Given the description of an element on the screen output the (x, y) to click on. 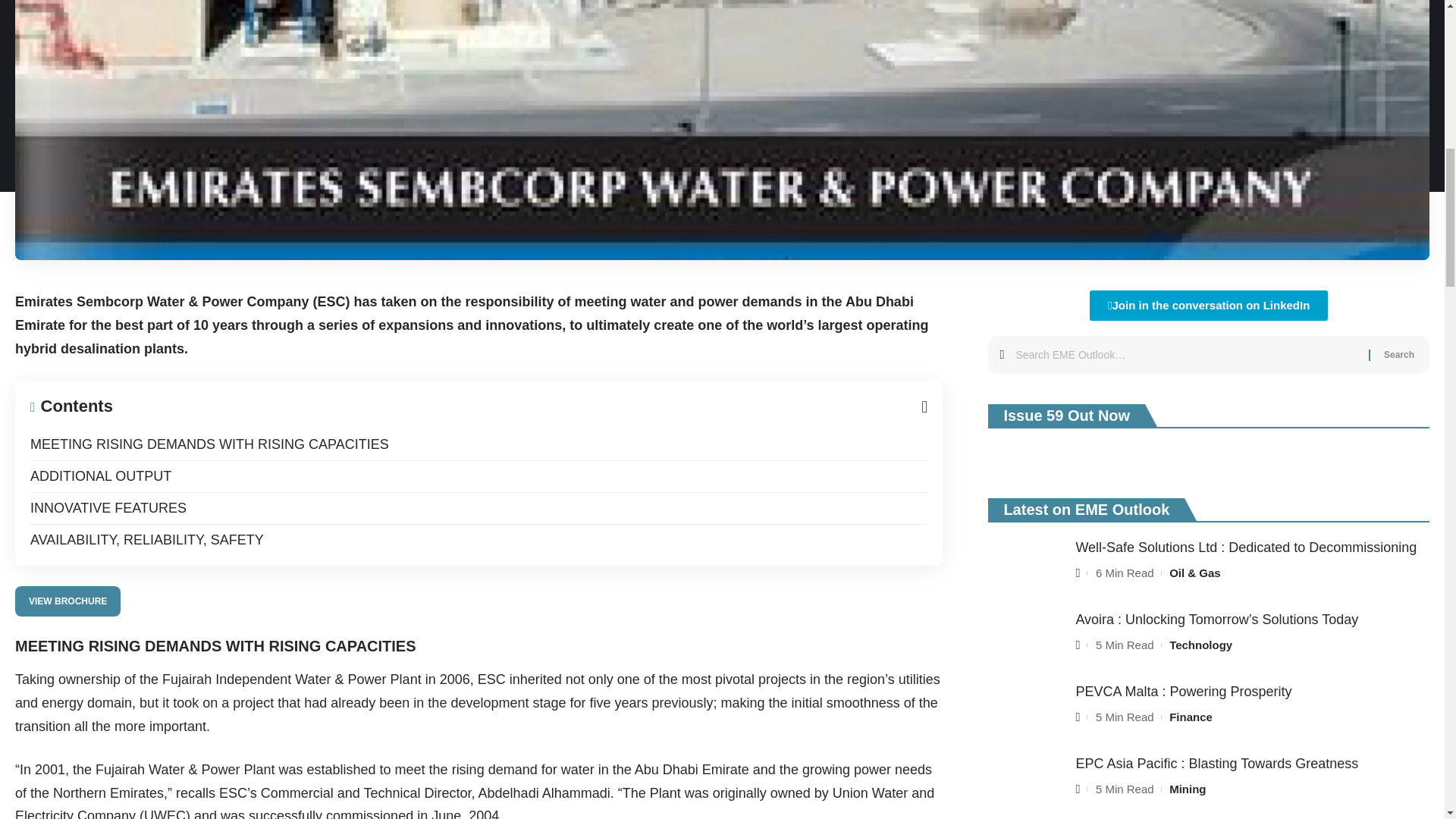
Search (1398, 354)
EPC Asia Pacific : Blasting Towards Greatness (1026, 781)
Well-Safe Solutions Ltd : Dedicated to Decommissioning (1026, 565)
PEVCA Malta : Powering Prosperity (1026, 709)
